Given the description of an element on the screen output the (x, y) to click on. 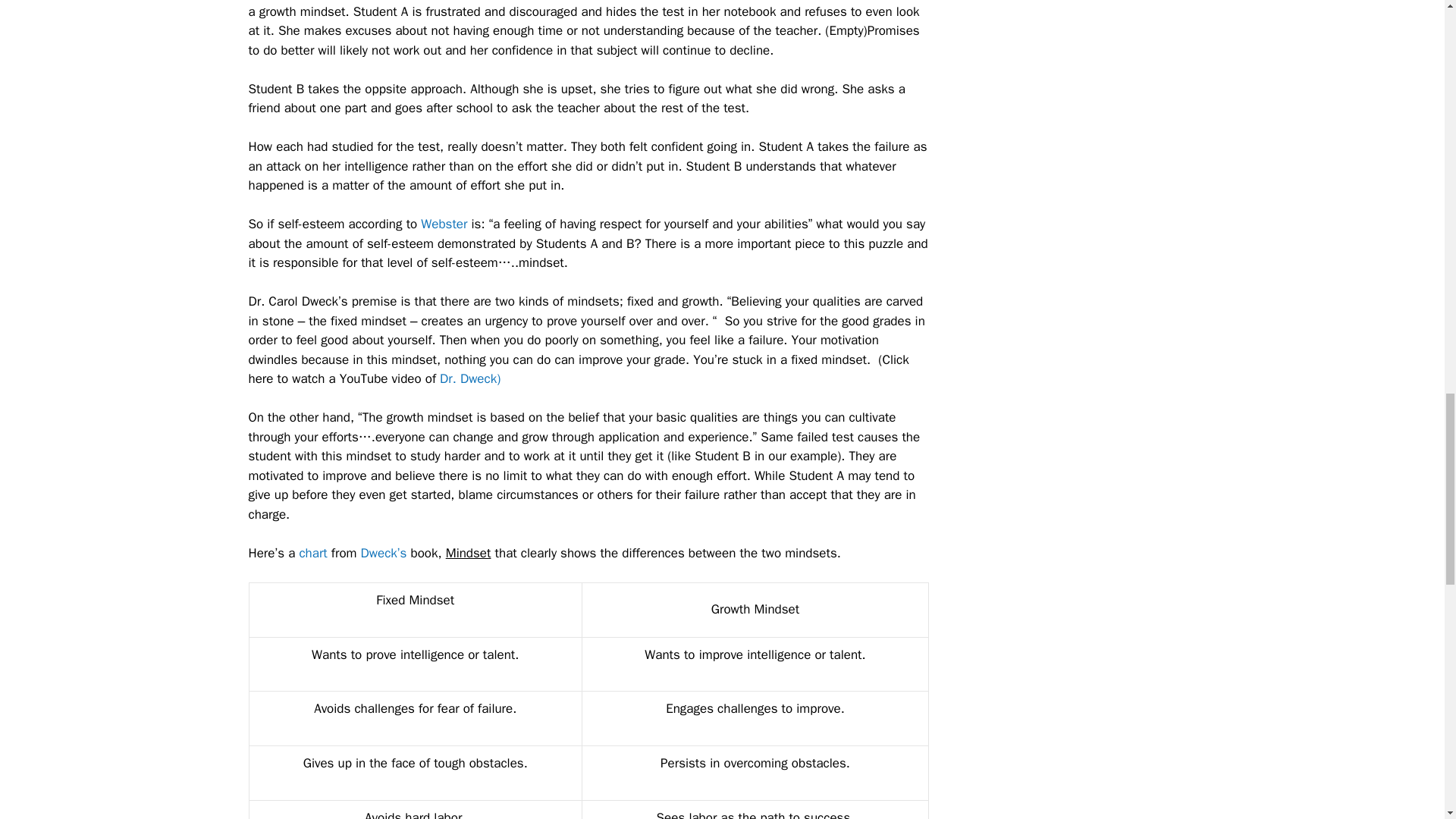
Fixed and Growth Mindset Chart (310, 553)
Dr Dweck and Mindset (469, 378)
